Given the description of an element on the screen output the (x, y) to click on. 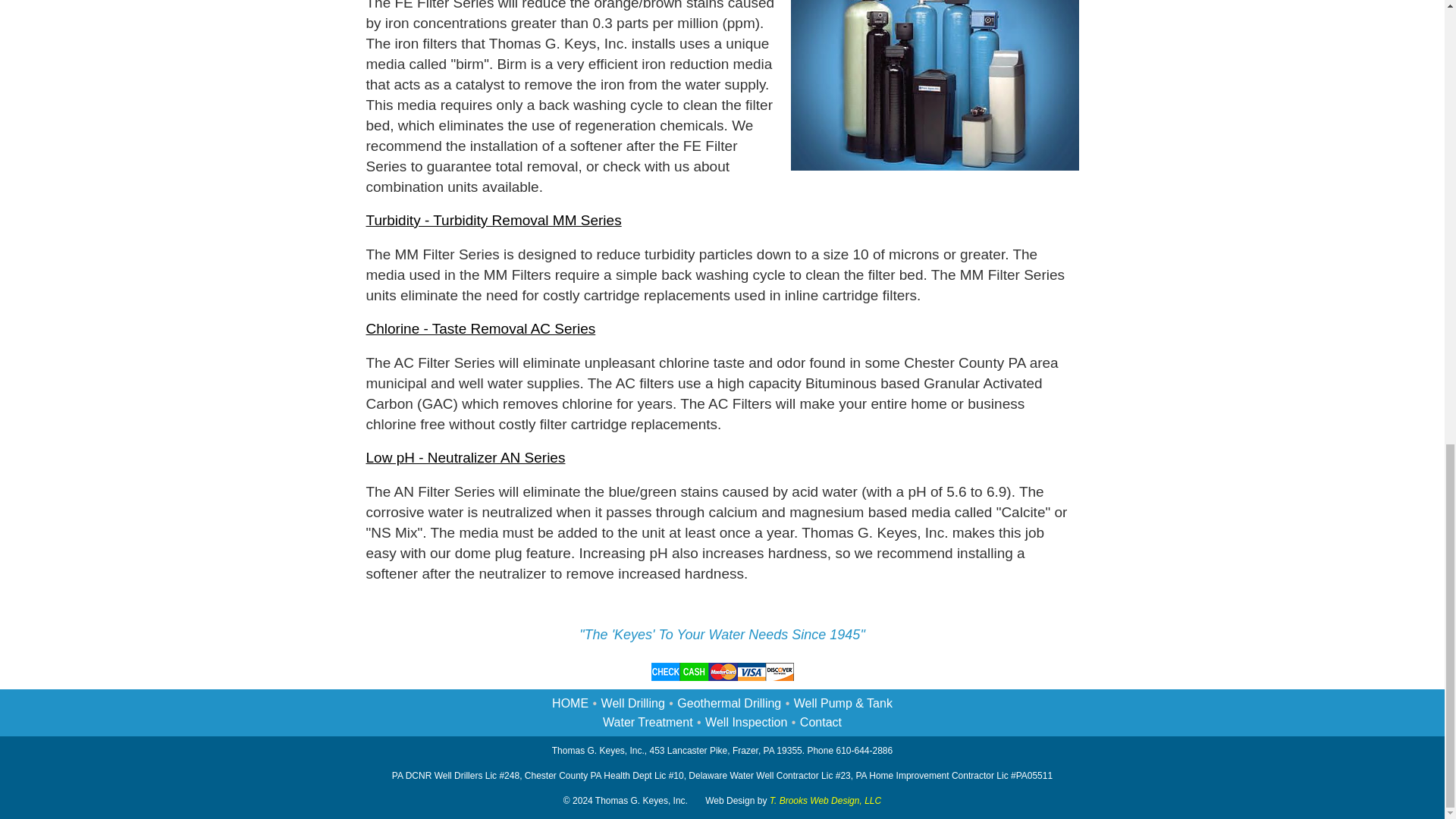
Well Drilling (633, 703)
HOME (569, 703)
Geothermal Drilling (728, 703)
610-644-2886 (863, 750)
Water Treatment (647, 721)
Well Inspection (745, 721)
T. Brooks Web Design, LLC (825, 800)
Contact (820, 721)
